Given the description of an element on the screen output the (x, y) to click on. 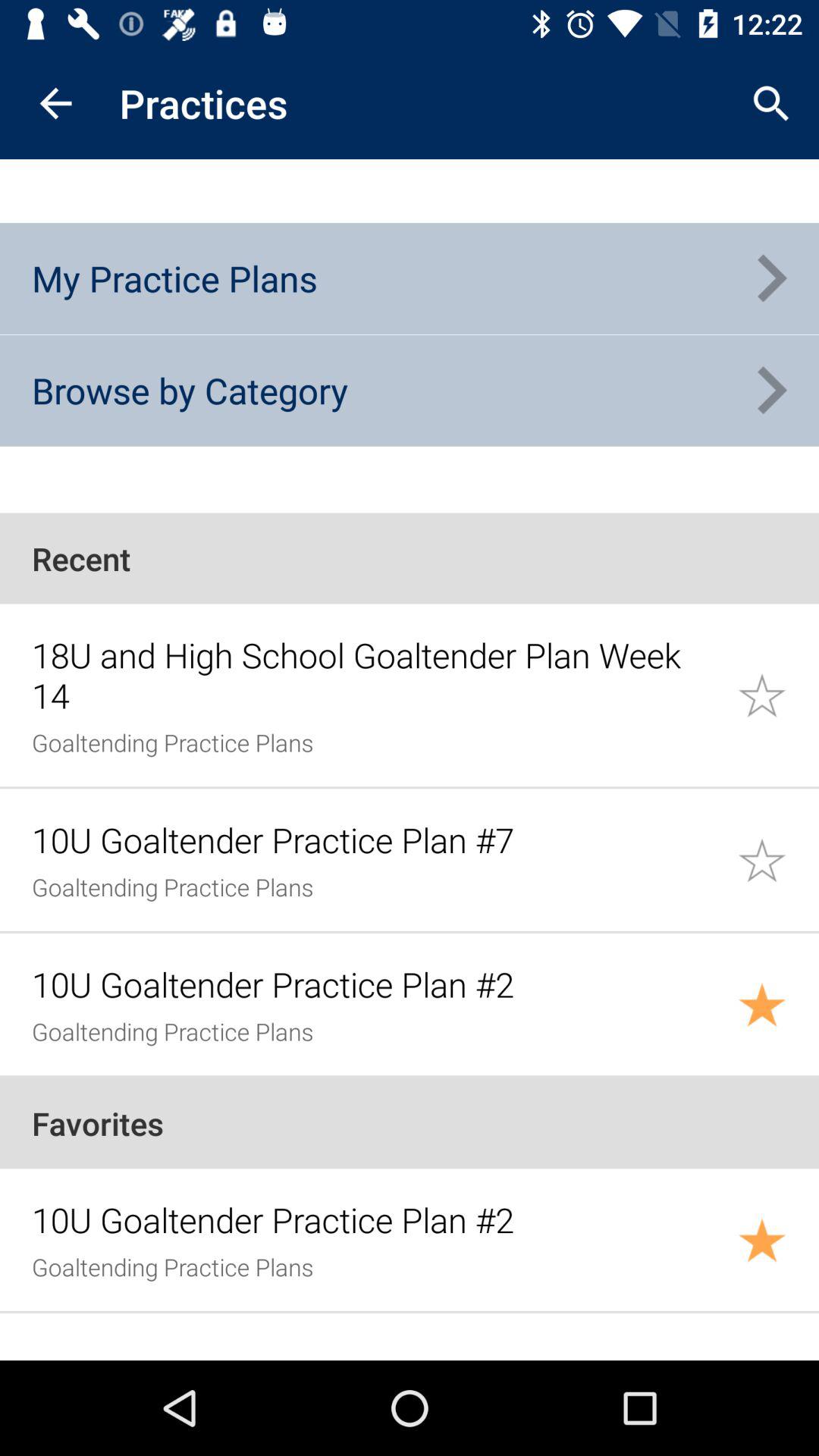
bookmark (778, 1004)
